Given the description of an element on the screen output the (x, y) to click on. 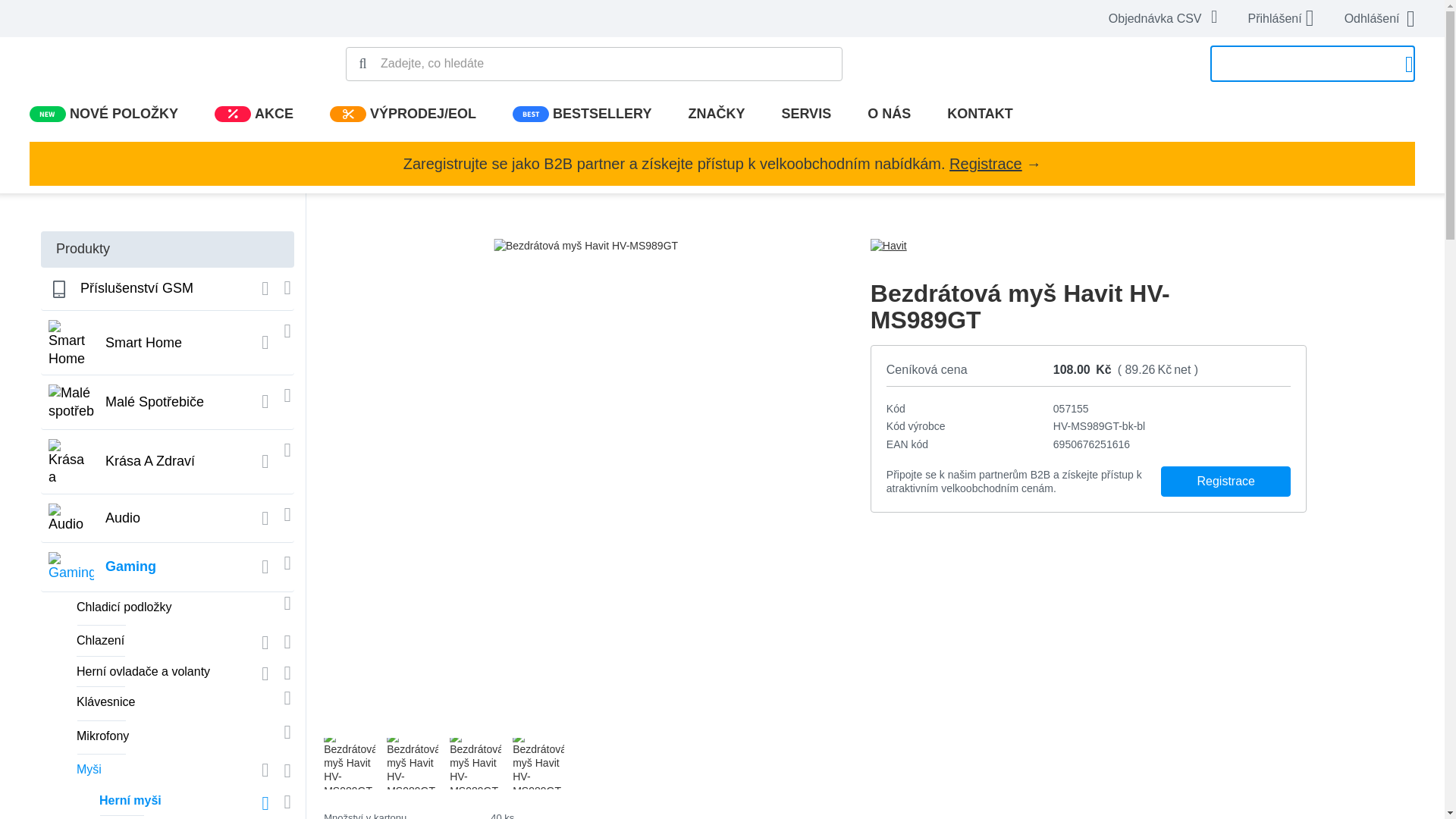
KONTAKT (980, 113)
Registrace (985, 163)
SERVIS (805, 113)
AKCE (232, 114)
BESTSELLERY (581, 113)
SERVIS (805, 113)
KONTAKT (980, 113)
AKCE (254, 113)
BESTSELLERY (530, 114)
BESTSELLERY (581, 113)
